Given the description of an element on the screen output the (x, y) to click on. 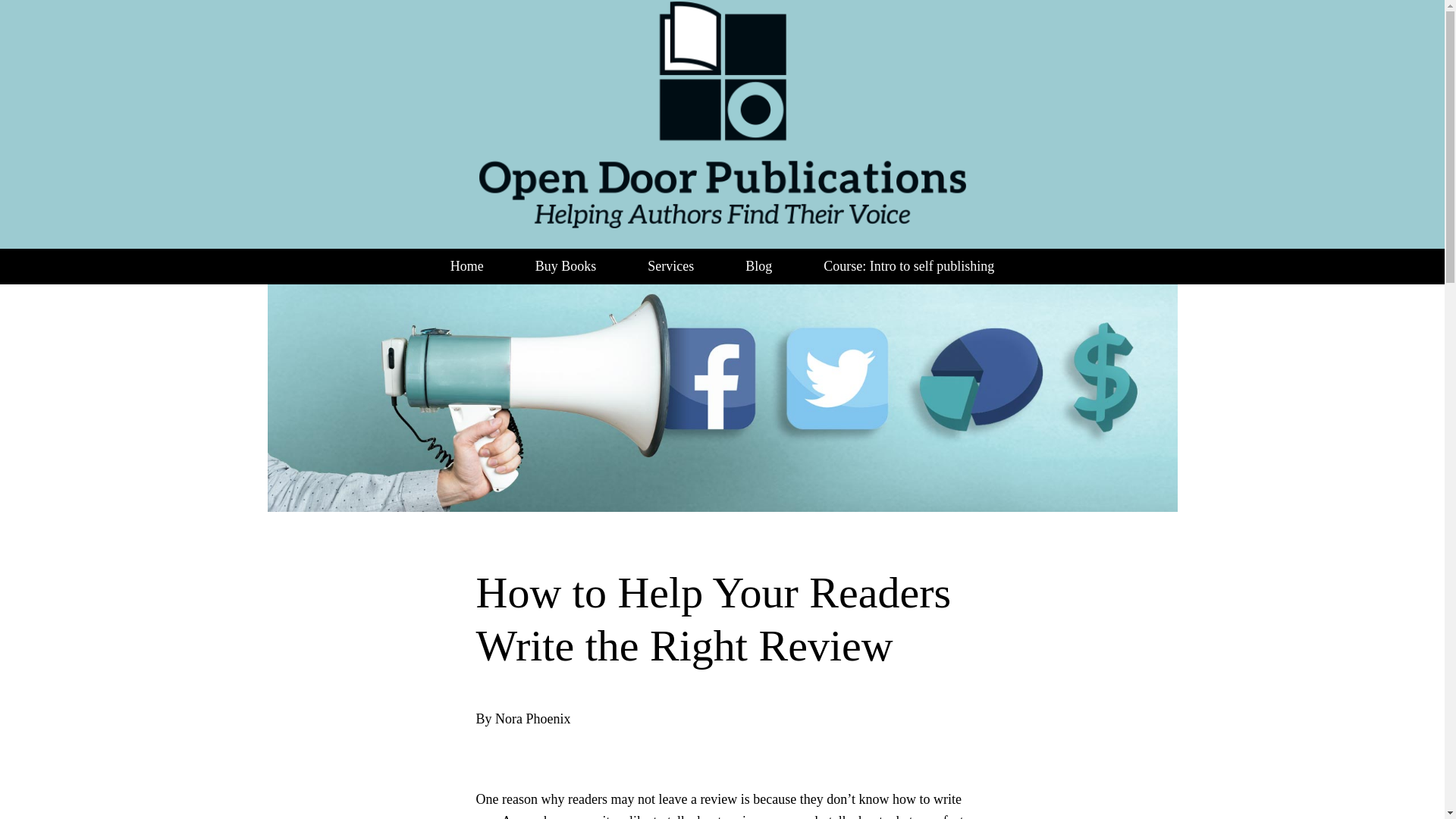
Services (670, 266)
Home (466, 266)
Course: Intro to self publishing (908, 266)
Blog (759, 266)
Buy Books (565, 266)
